Given the description of an element on the screen output the (x, y) to click on. 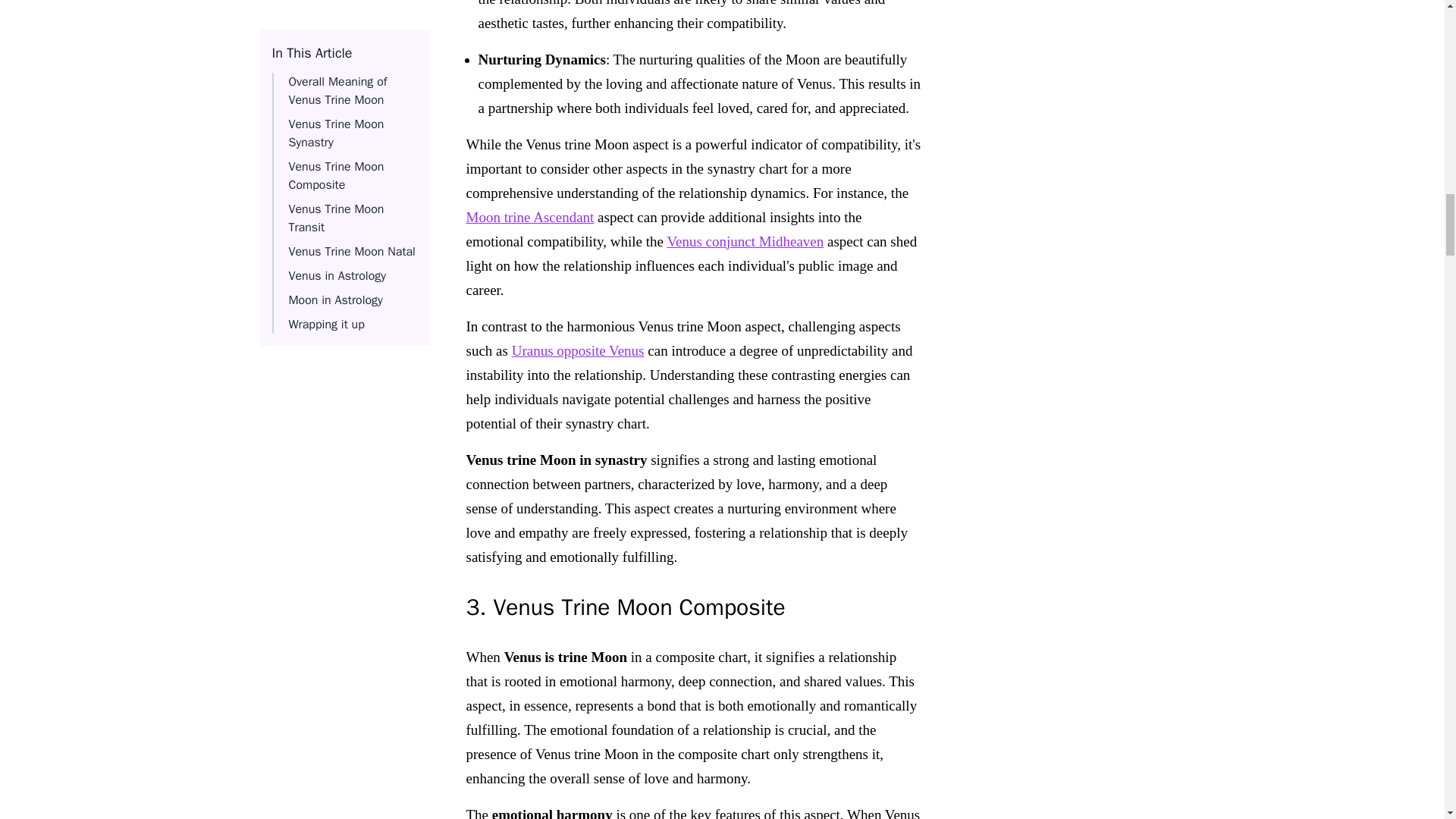
Uranus opposite Venus (578, 350)
Venus conjunct Midheaven (745, 241)
Moon trine Ascendant (529, 217)
